Given the description of an element on the screen output the (x, y) to click on. 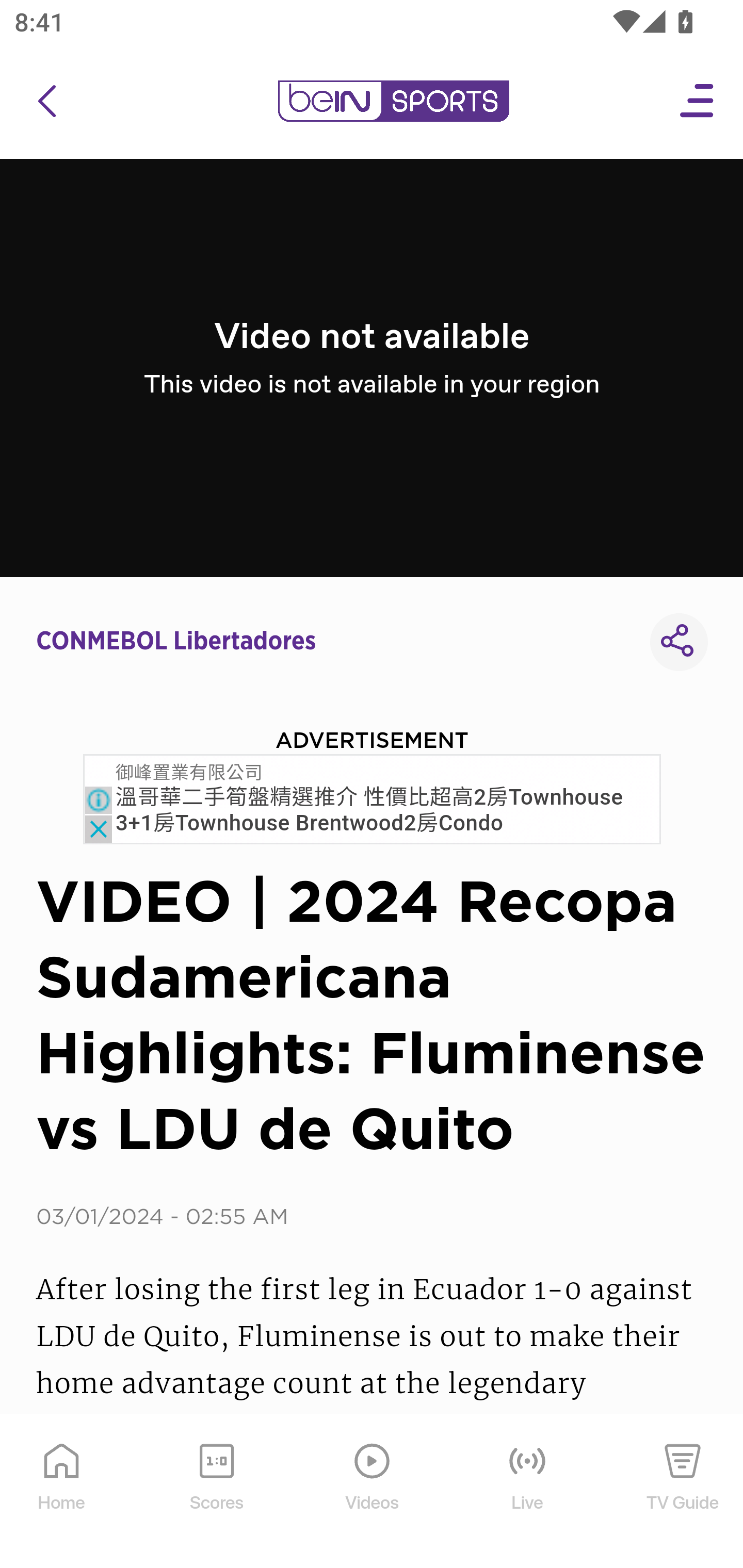
en-us?platform=mobile_android bein logo (392, 101)
icon back (46, 101)
Open Menu Icon (697, 101)
御峰置業有限公司 (189, 773)
Home Home Icon Home (61, 1491)
Scores Scores Icon Scores (216, 1491)
Videos Videos Icon Videos (372, 1491)
TV Guide TV Guide Icon TV Guide (682, 1491)
